Given the description of an element on the screen output the (x, y) to click on. 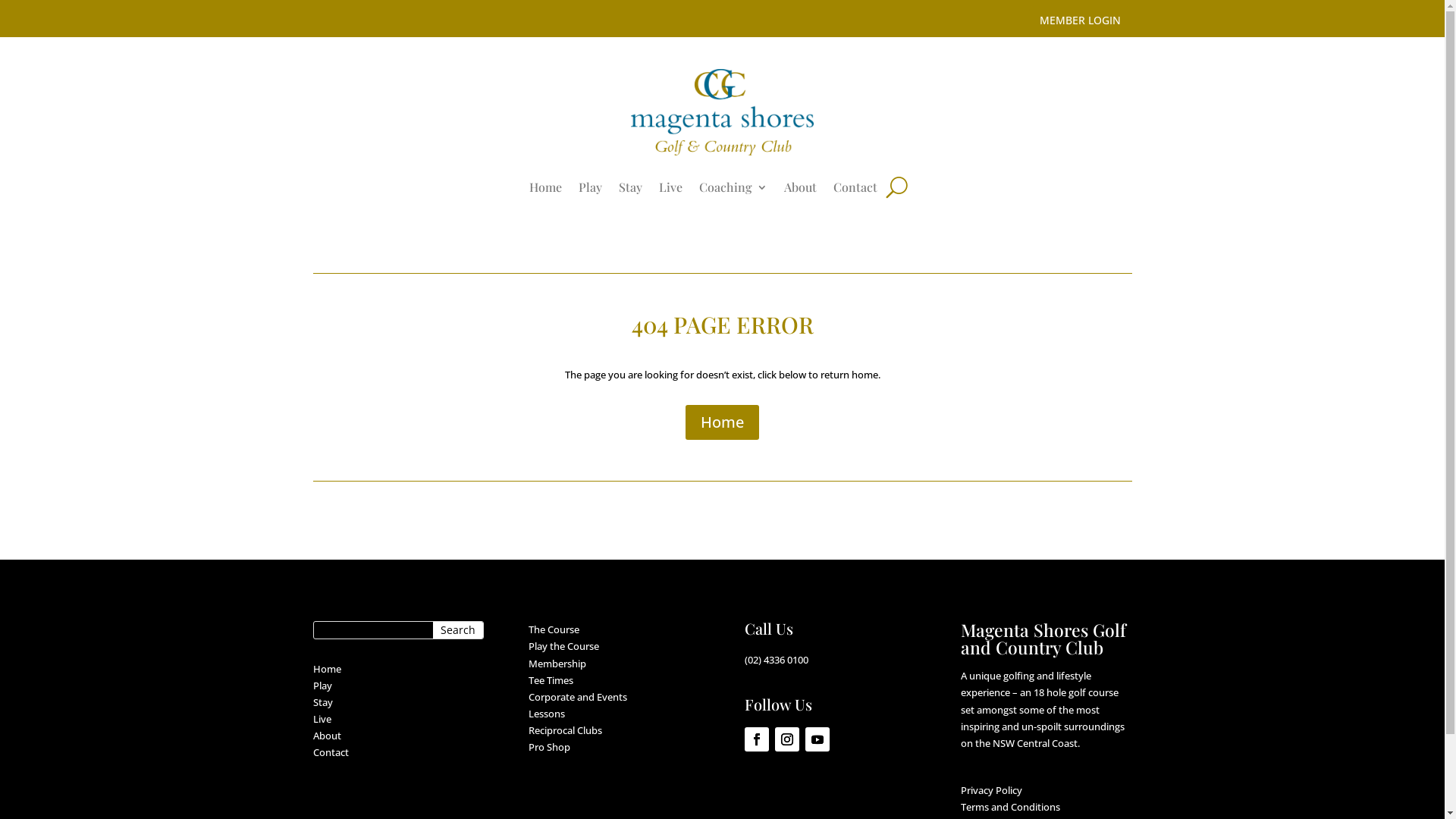
Play Element type: text (589, 190)
Contact Element type: text (854, 190)
Follow on Instagram Element type: hover (787, 739)
Follow on Youtube Element type: hover (817, 739)
Search Element type: text (458, 629)
Home Element type: text (545, 190)
MEMBER LOGIN Element type: text (1080, 21)
Live Element type: text (669, 190)
About Element type: text (800, 190)
Coaching Element type: text (733, 190)
Stay Element type: text (630, 190)
Home Element type: text (326, 668)
Magenta Shores Golf and Country Club - Logo Element type: hover (721, 112)
Home Element type: text (722, 421)
Follow on Facebook Element type: hover (756, 739)
